Given the description of an element on the screen output the (x, y) to click on. 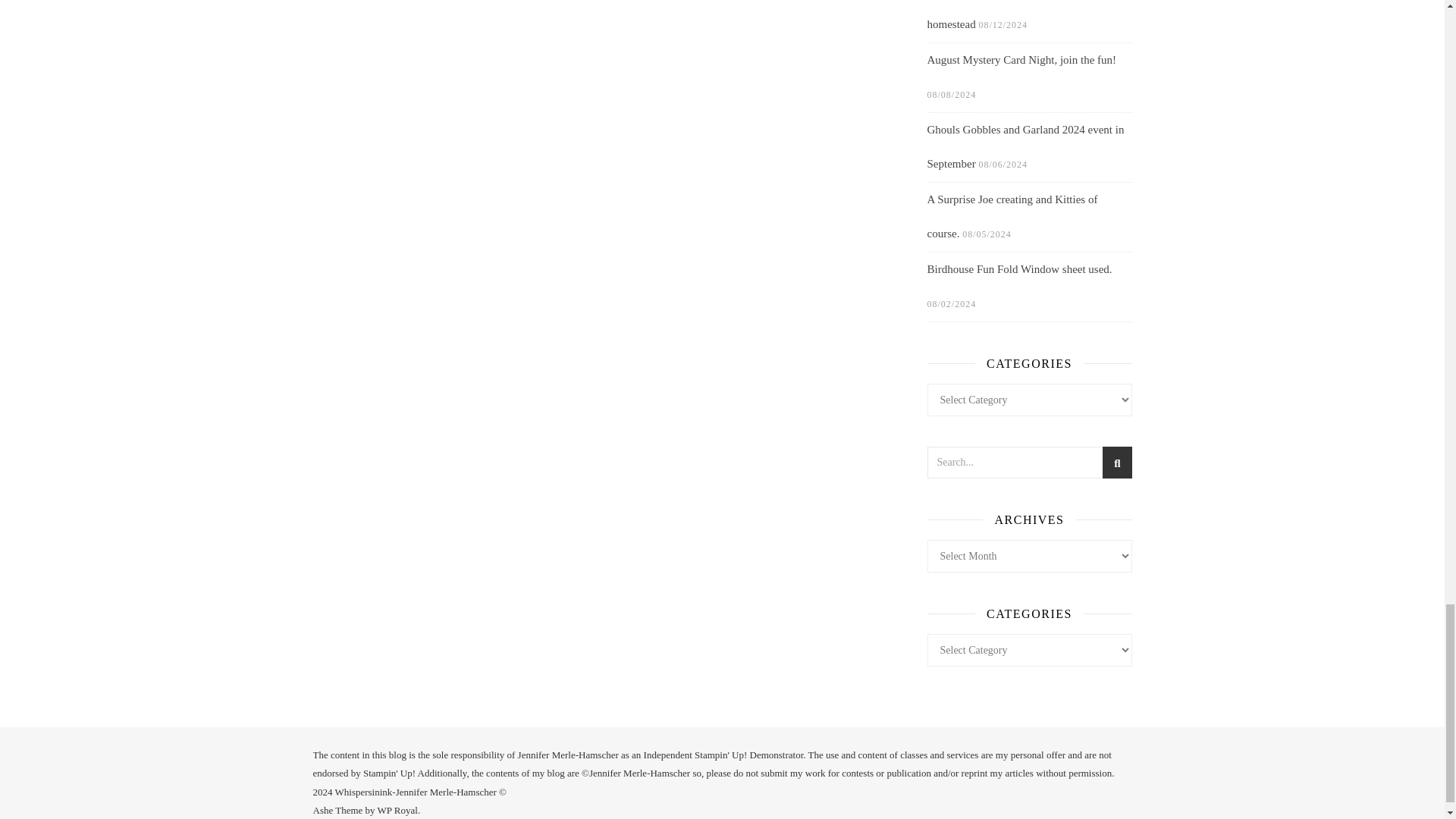
Birdhouse Fun Fold Window sheet used. (1019, 268)
August Mystery Card Night, join the fun! (1021, 59)
Now 5 Fuzzie Fixture Eggs here on the homestead (1015, 14)
Ghouls Gobbles and Garland 2024 event in September (1025, 145)
A Surprise Joe creating and Kitties of course. (1011, 215)
